Given the description of an element on the screen output the (x, y) to click on. 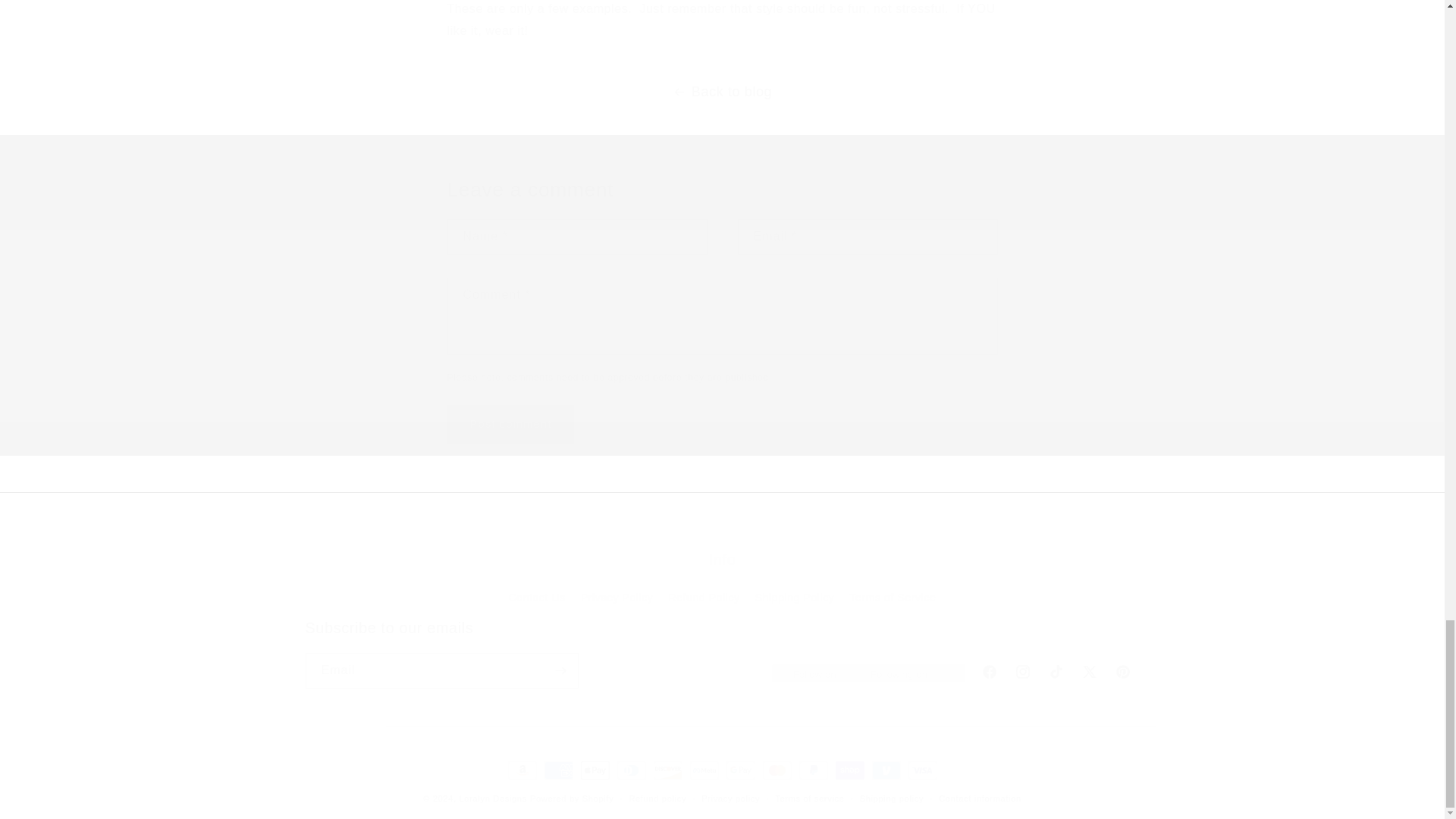
Post comment (510, 423)
